Given the description of an element on the screen output the (x, y) to click on. 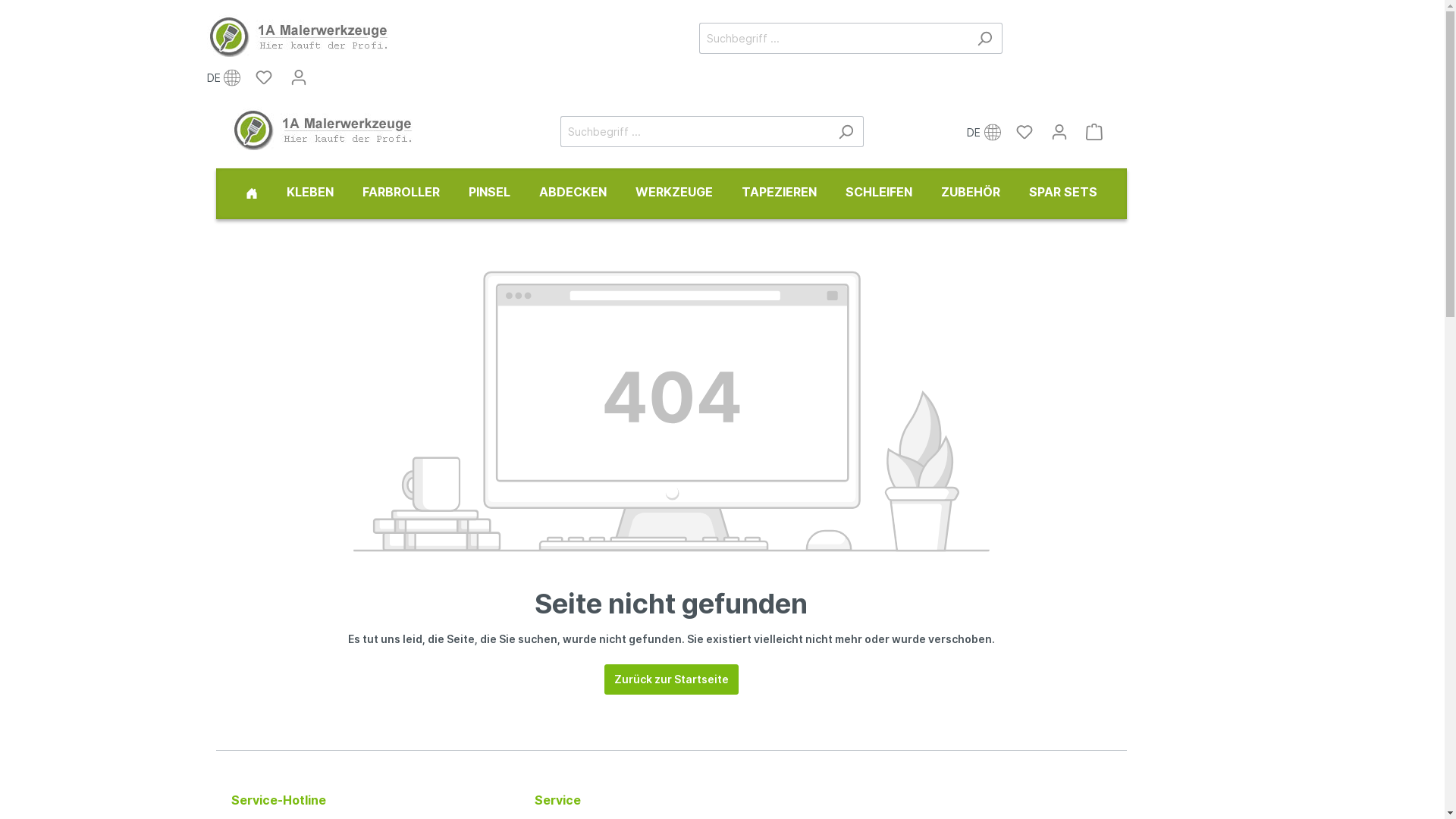
Zur Startseite wechseln Element type: hover (343, 128)
ABDECKEN Element type: text (572, 193)
DE Element type: text (986, 131)
WERKZEUGE Element type: text (673, 193)
FARBROLLER Element type: text (400, 193)
Merkzettel Element type: hover (263, 76)
Mein Konto Element type: hover (1058, 130)
SCHLEIFEN Element type: text (878, 193)
Zur Startseite wechseln Element type: hover (319, 34)
KLEBEN Element type: text (309, 193)
Mein Konto Element type: hover (298, 76)
SPAR SETS Element type: text (1062, 193)
TAPEZIEREN Element type: text (778, 193)
Warenkorb Element type: hover (1093, 130)
DE Element type: text (226, 78)
Merkzettel Element type: hover (1024, 130)
PINSEL Element type: text (488, 193)
555 Element type: hover (250, 193)
